Given the description of an element on the screen output the (x, y) to click on. 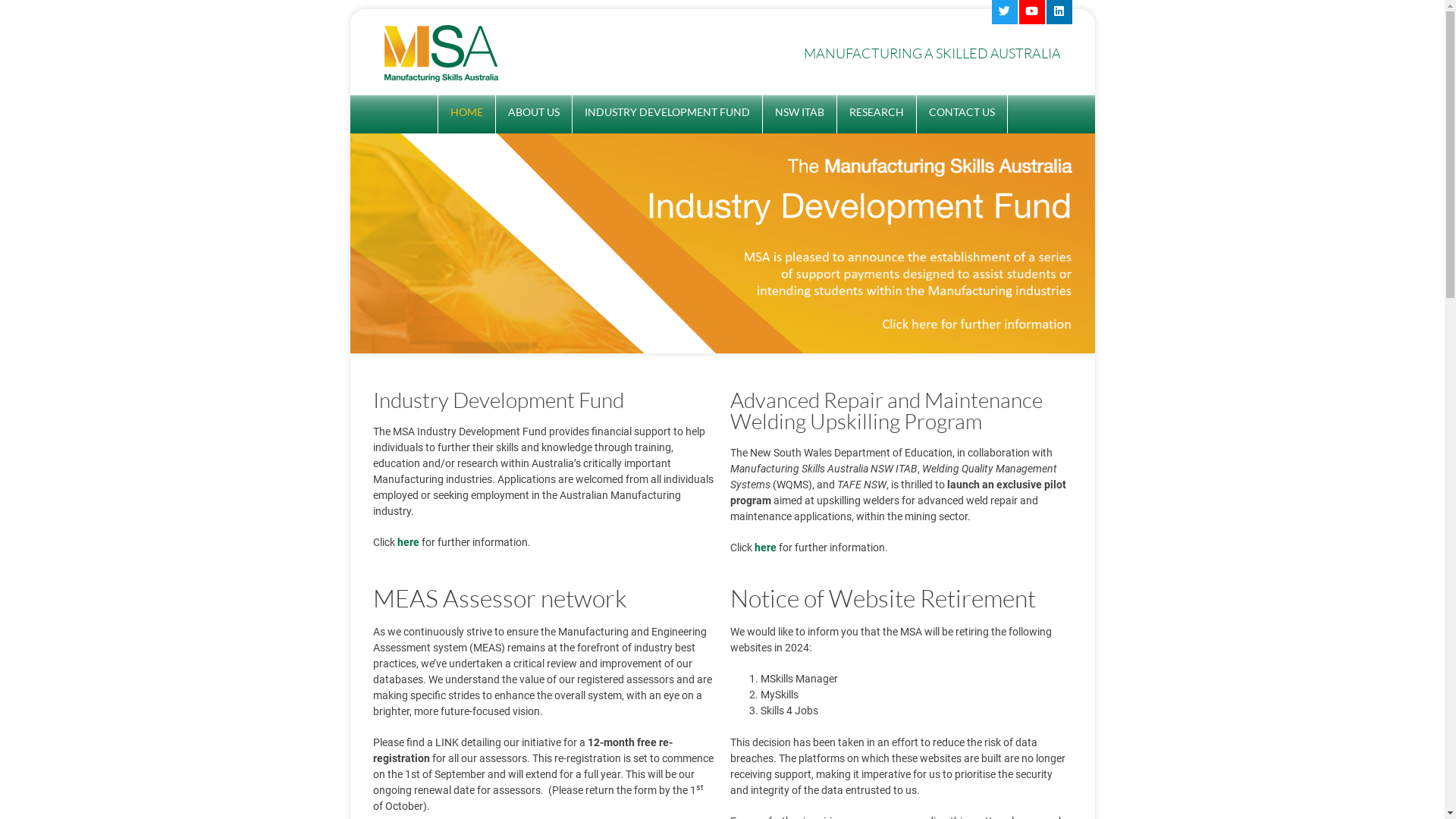
NSW ITAB Element type: text (799, 113)
CONTACT US Element type: text (961, 113)
here Element type: text (408, 542)
Follow Us on Twitter Element type: hover (1004, 12)
View our YouTube Channel Element type: hover (1031, 12)
Find Us on LinkedIn Element type: hover (1059, 12)
here Element type: text (764, 547)
HOME Element type: text (466, 113)
INDUSTRY DEVELOPMENT FUND Element type: text (666, 113)
ABOUT US Element type: text (533, 113)
RESEARCH Element type: text (876, 113)
